Given the description of an element on the screen output the (x, y) to click on. 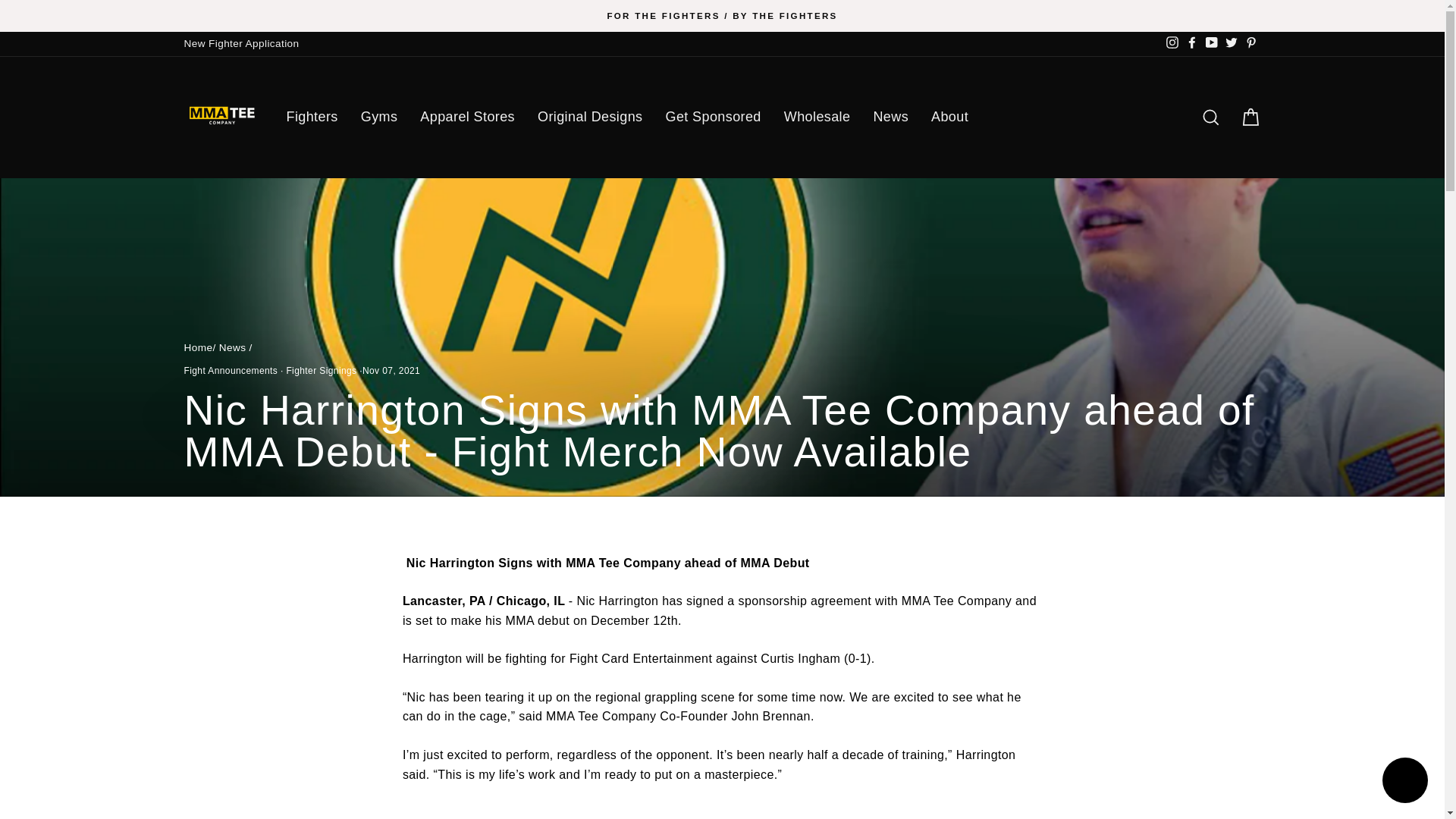
Back to the frontpage (197, 347)
New Fighter Application (240, 43)
